Given the description of an element on the screen output the (x, y) to click on. 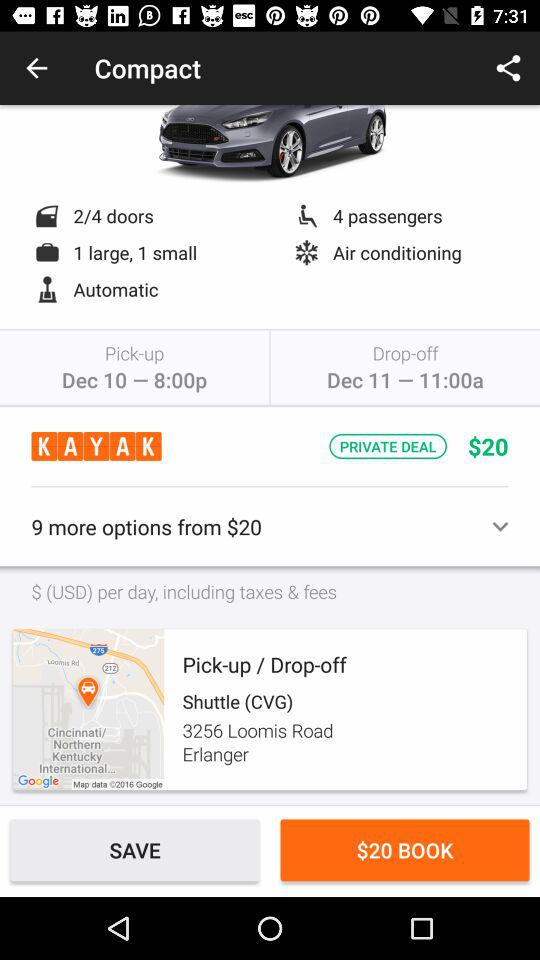
select icon below usd per day (88, 709)
